Given the description of an element on the screen output the (x, y) to click on. 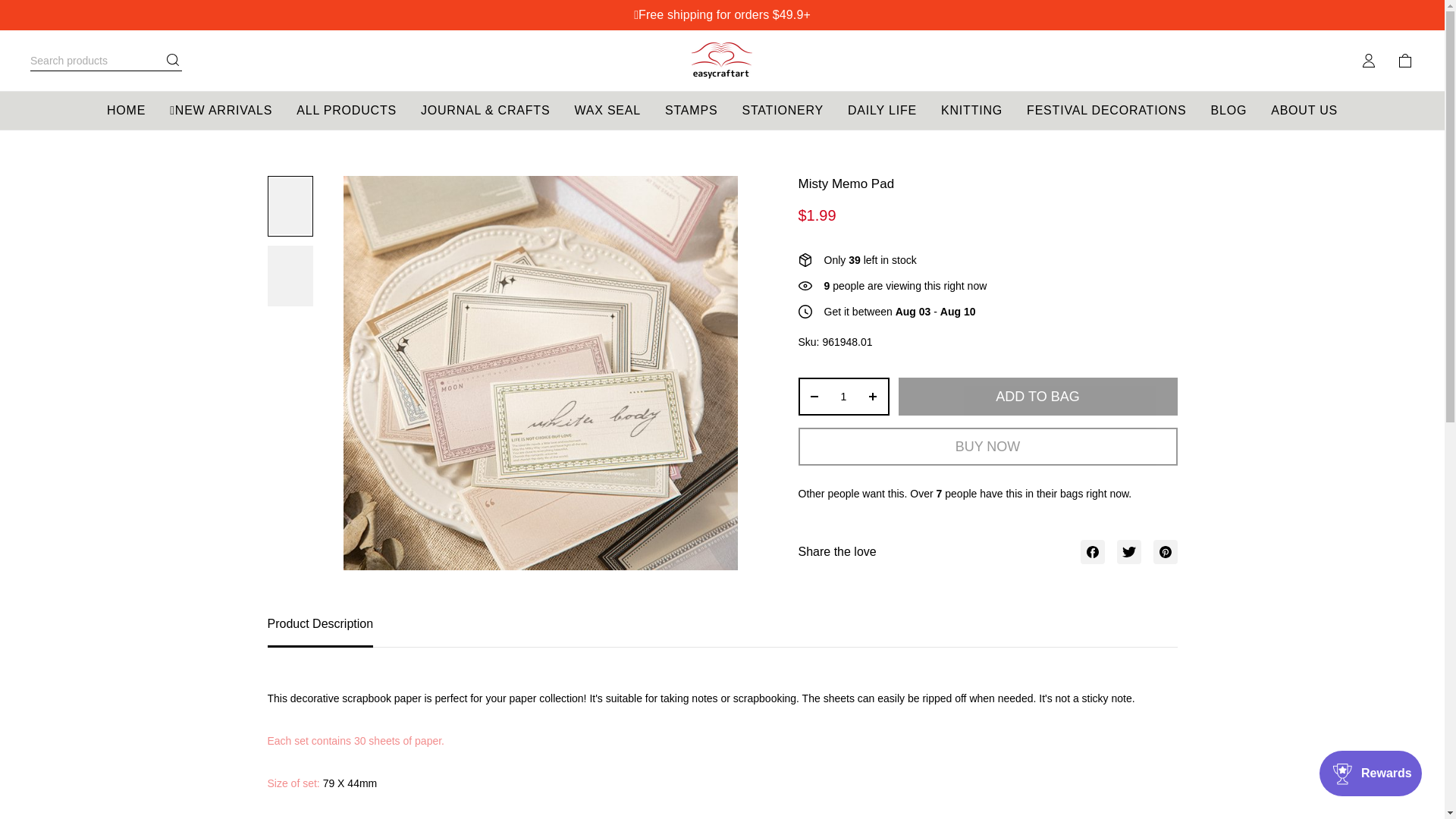
HOME (125, 110)
1 (843, 396)
Product Description (721, 631)
WAX SEAL (606, 110)
ALL PRODUCTS (346, 110)
